Given the description of an element on the screen output the (x, y) to click on. 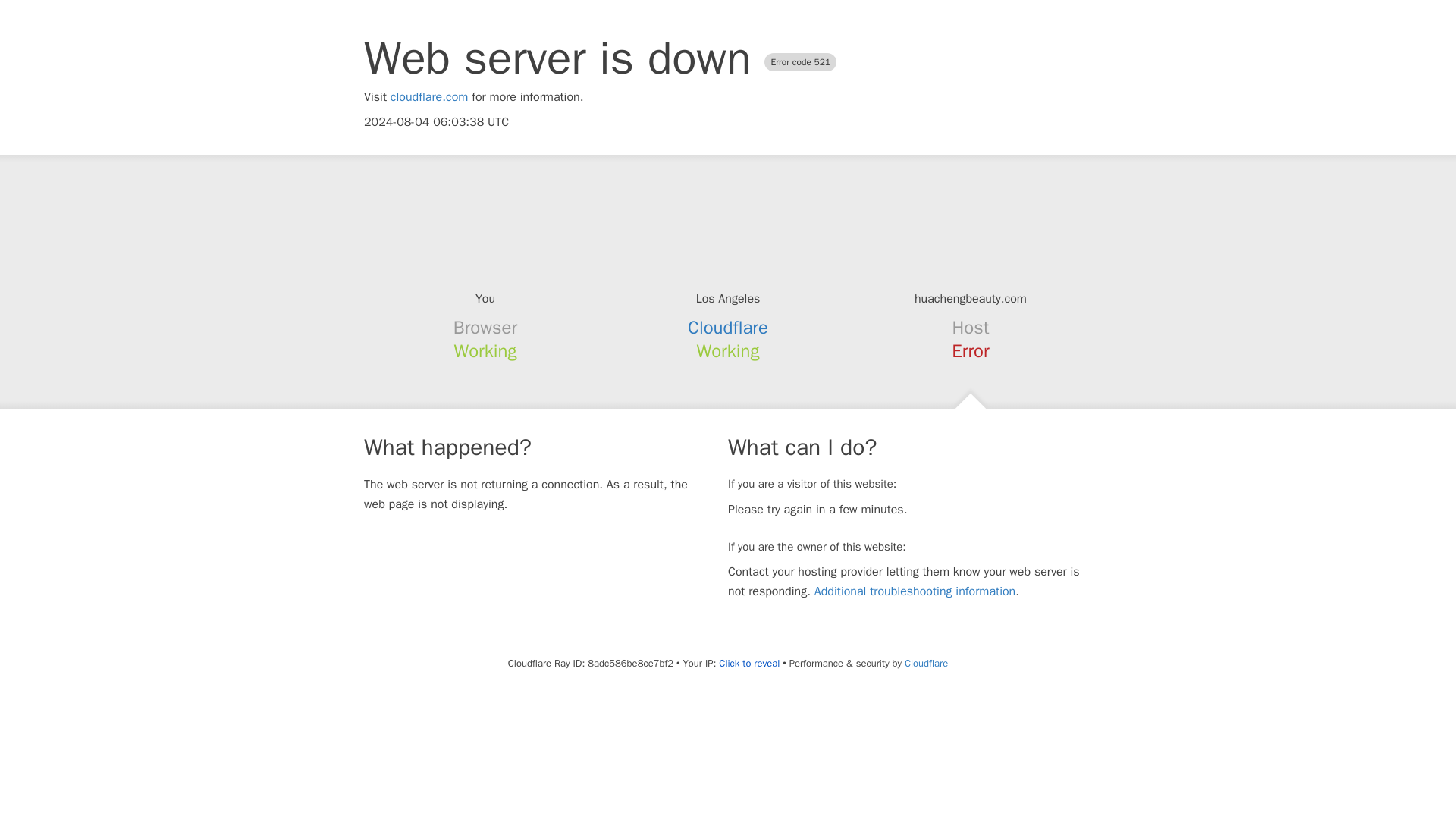
Cloudflare (925, 662)
Additional troubleshooting information (913, 590)
cloudflare.com (429, 96)
Click to reveal (748, 663)
Cloudflare (727, 327)
